Given the description of an element on the screen output the (x, y) to click on. 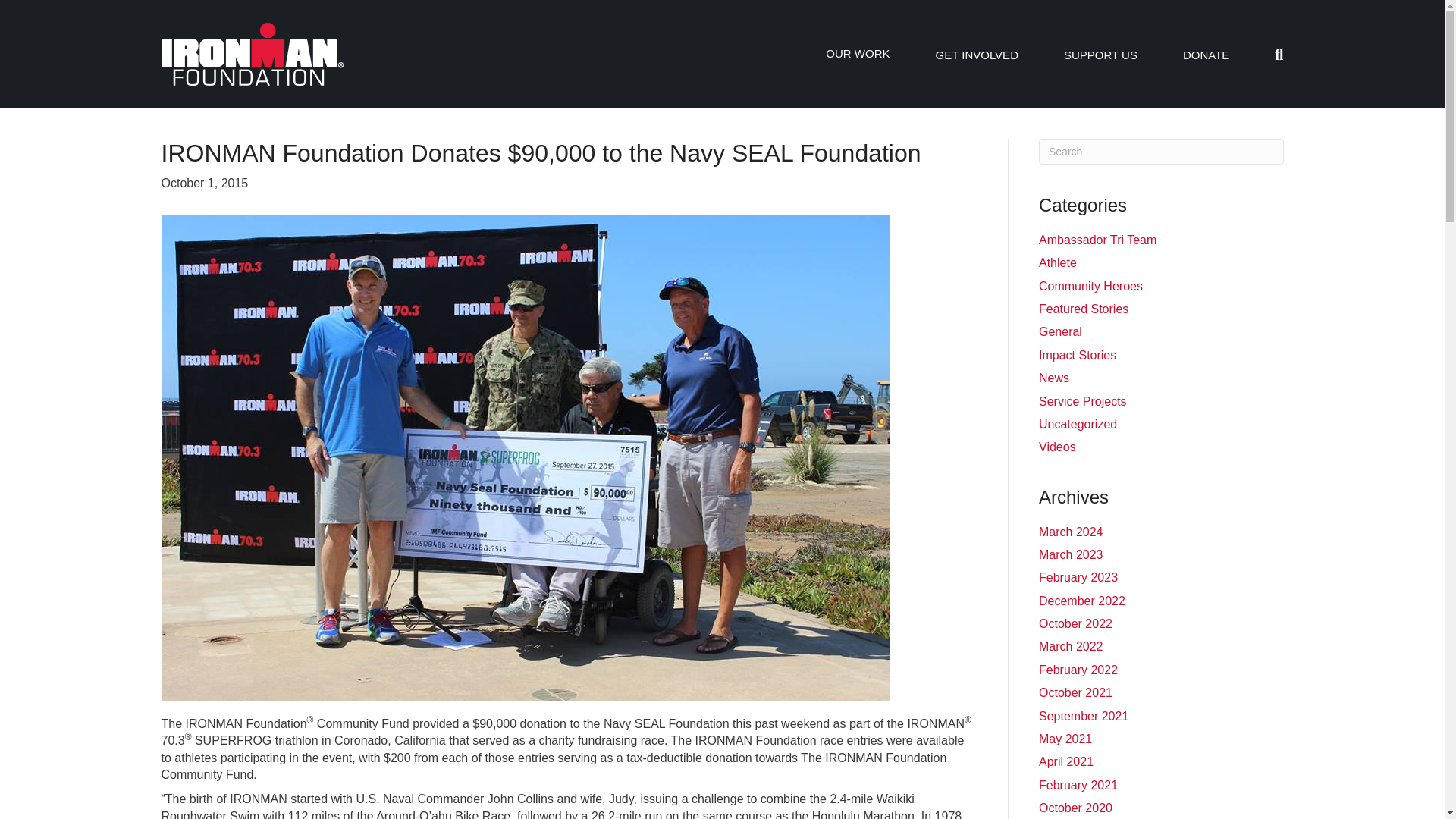
General (1060, 331)
Community Heroes (1090, 286)
Ambassador Tri Team (1097, 239)
Impact Stories (1077, 354)
Athlete (1058, 262)
OUR WORK (857, 53)
Type and press Enter to search. (1161, 151)
SUPPORT US (1100, 55)
GET INVOLVED (976, 55)
Featured Stories (1083, 308)
